Given the description of an element on the screen output the (x, y) to click on. 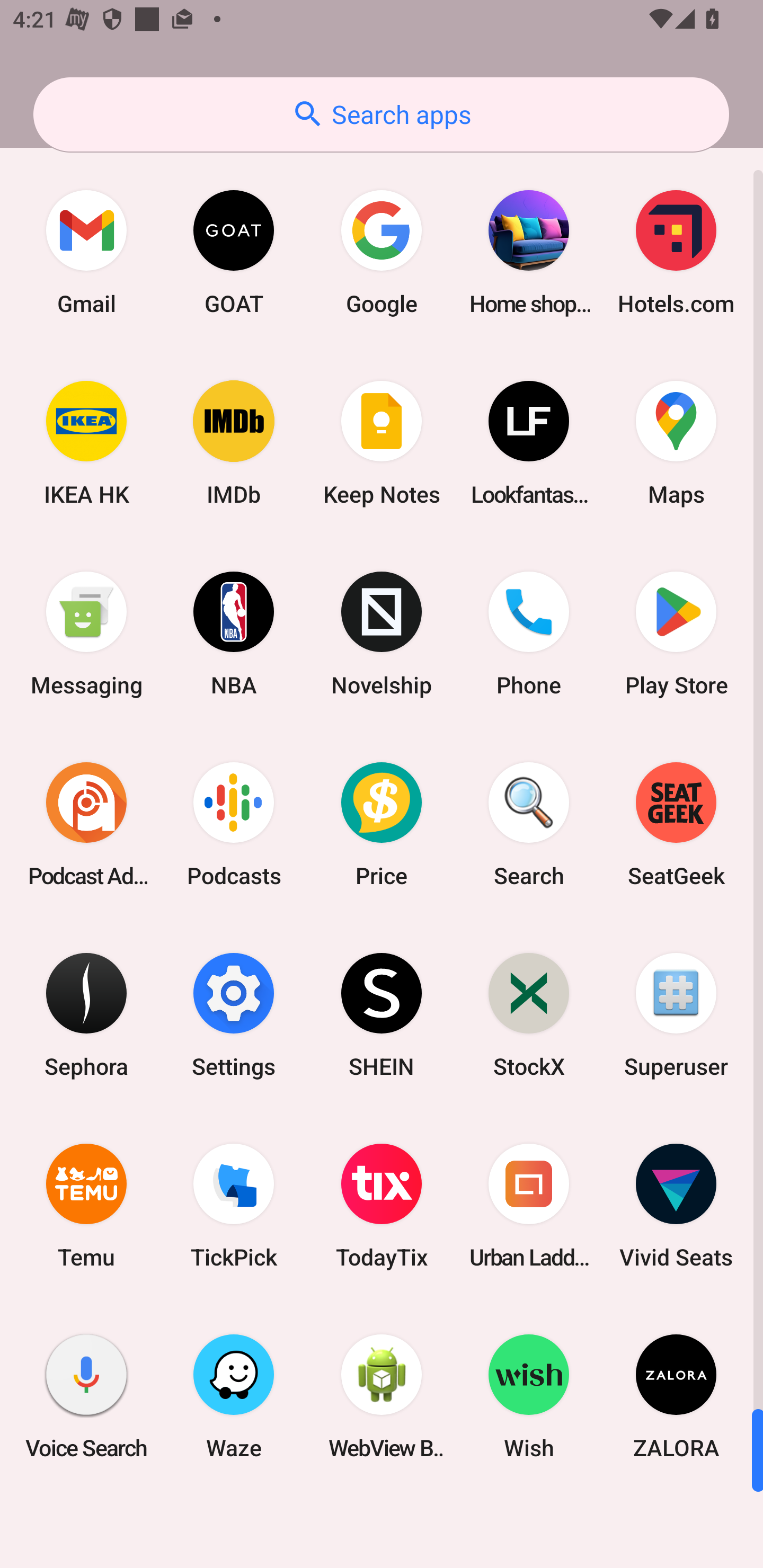
  Search apps (381, 114)
Gmail (86, 252)
GOAT (233, 252)
Google (381, 252)
Home shopping (528, 252)
Hotels.com (676, 252)
IKEA HK (86, 442)
IMDb (233, 442)
Keep Notes (381, 442)
Lookfantastic (528, 442)
Maps (676, 442)
Messaging (86, 633)
NBA (233, 633)
Novelship (381, 633)
Phone (528, 633)
Play Store (676, 633)
Podcast Addict (86, 823)
Podcasts (233, 823)
Price (381, 823)
Search (528, 823)
SeatGeek (676, 823)
Sephora (86, 1014)
Settings (233, 1014)
SHEIN (381, 1014)
StockX (528, 1014)
Superuser (676, 1014)
Temu (86, 1205)
TickPick (233, 1205)
TodayTix (381, 1205)
Urban Ladder (528, 1205)
Vivid Seats (676, 1205)
Voice Search (86, 1396)
Waze (233, 1396)
WebView Browser Tester (381, 1396)
Wish (528, 1396)
ZALORA (676, 1396)
